Given the description of an element on the screen output the (x, y) to click on. 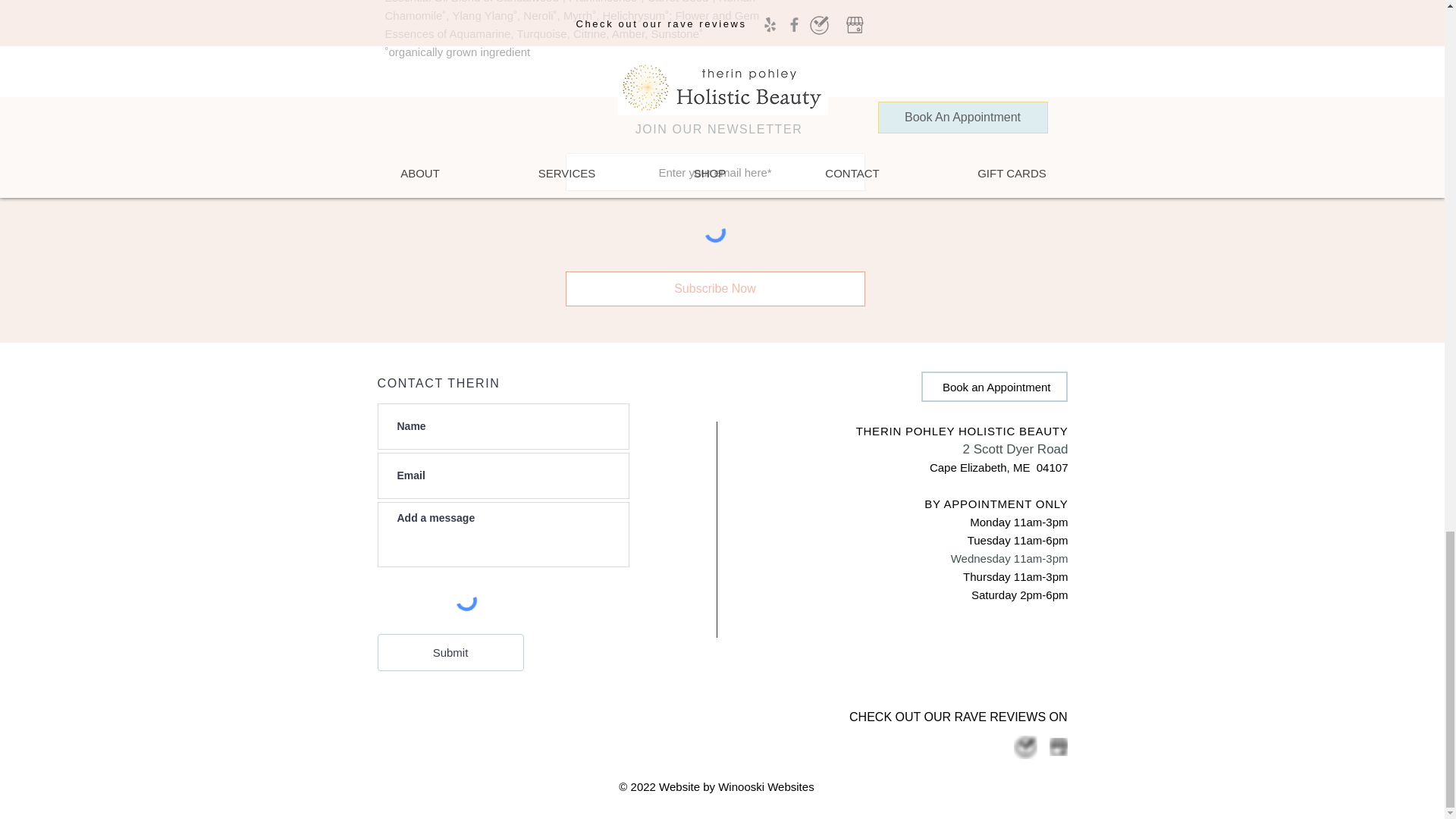
Submit (450, 651)
Book an Appointment (993, 386)
Subscribe Now (715, 288)
Winooski Websites (765, 786)
